Given the description of an element on the screen output the (x, y) to click on. 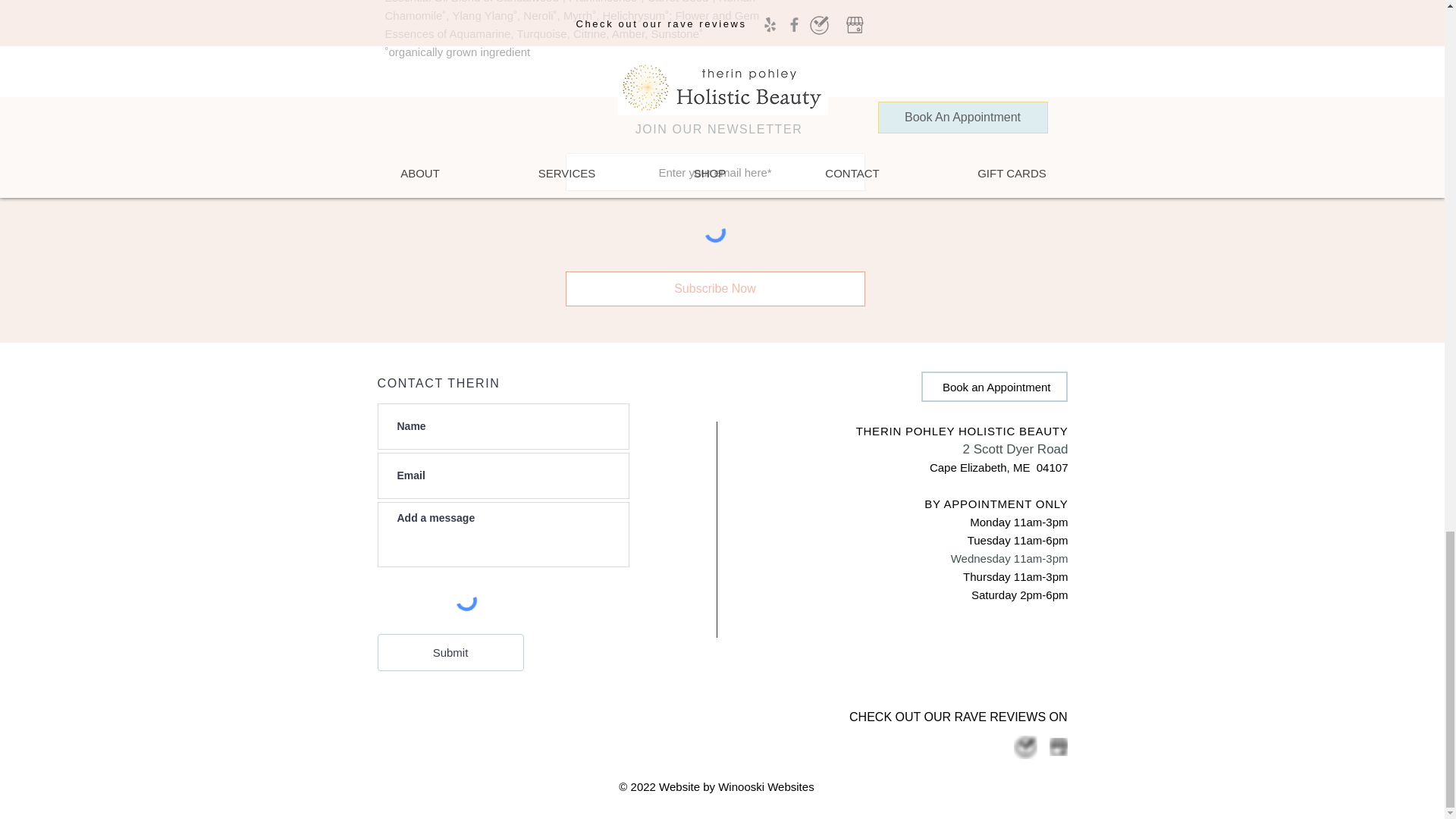
Submit (450, 651)
Book an Appointment (993, 386)
Subscribe Now (715, 288)
Winooski Websites (765, 786)
